Given the description of an element on the screen output the (x, y) to click on. 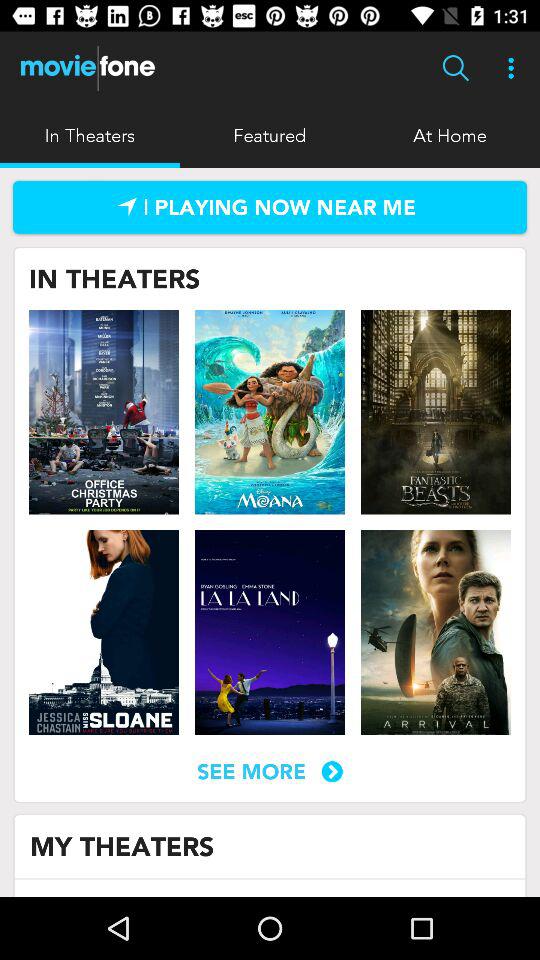
display information about a movie (104, 411)
